Given the description of an element on the screen output the (x, y) to click on. 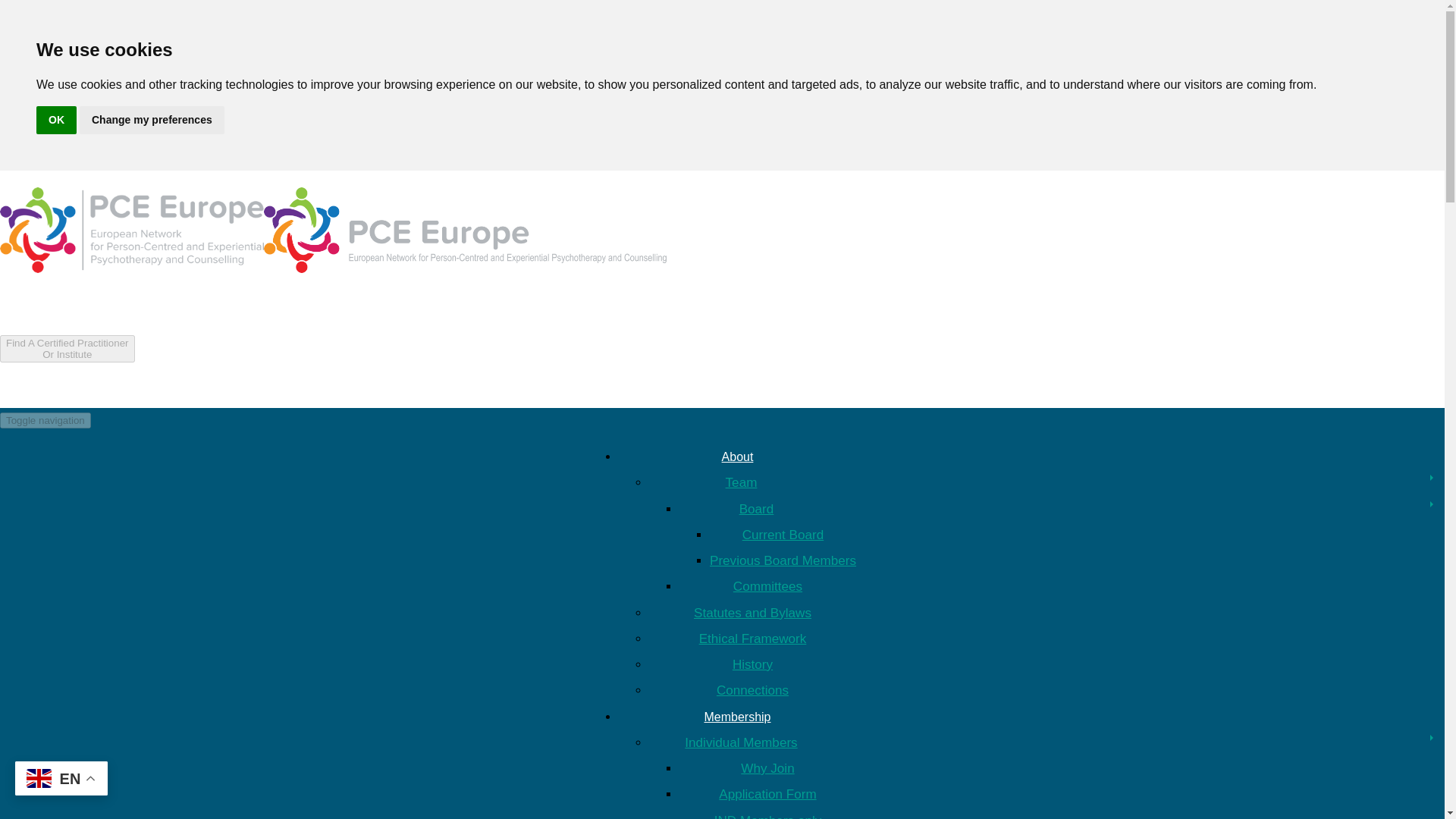
Board (767, 509)
History (752, 664)
About (738, 456)
Ethical Framework (752, 638)
Toggle navigation (45, 420)
Change my preferences (67, 348)
Team (152, 120)
Application Form (752, 482)
Statutes and Bylaws (67, 353)
Individual Members (767, 794)
IND Members only (752, 612)
Committees (751, 742)
Current Board (768, 816)
